Given the description of an element on the screen output the (x, y) to click on. 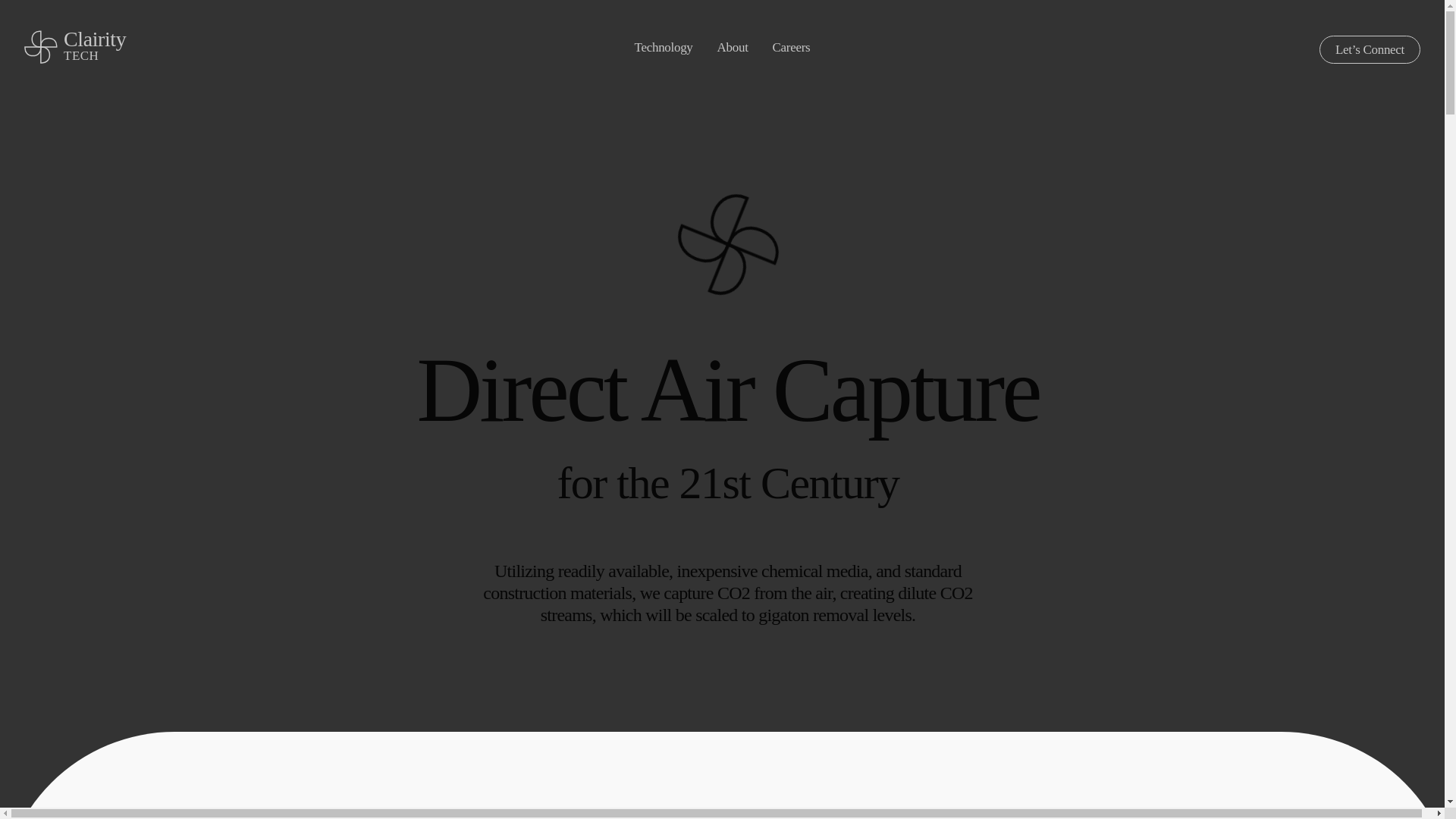
About (745, 46)
Technology (675, 46)
Careers (791, 46)
